Given the description of an element on the screen output the (x, y) to click on. 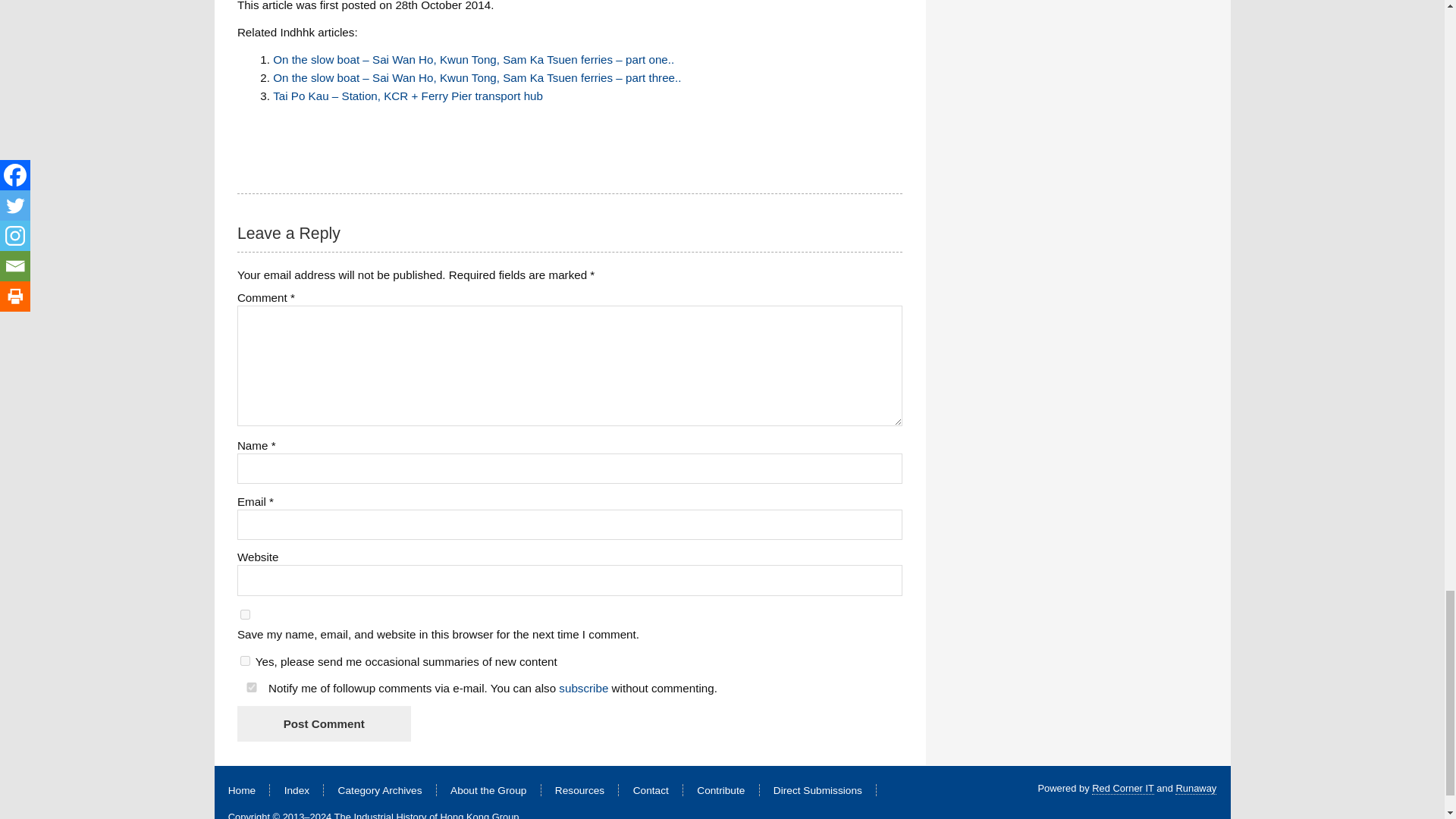
Post Comment (323, 723)
yes (251, 687)
yes (245, 614)
subscribe (583, 687)
1 (245, 660)
Post Comment (323, 723)
